Given the description of an element on the screen output the (x, y) to click on. 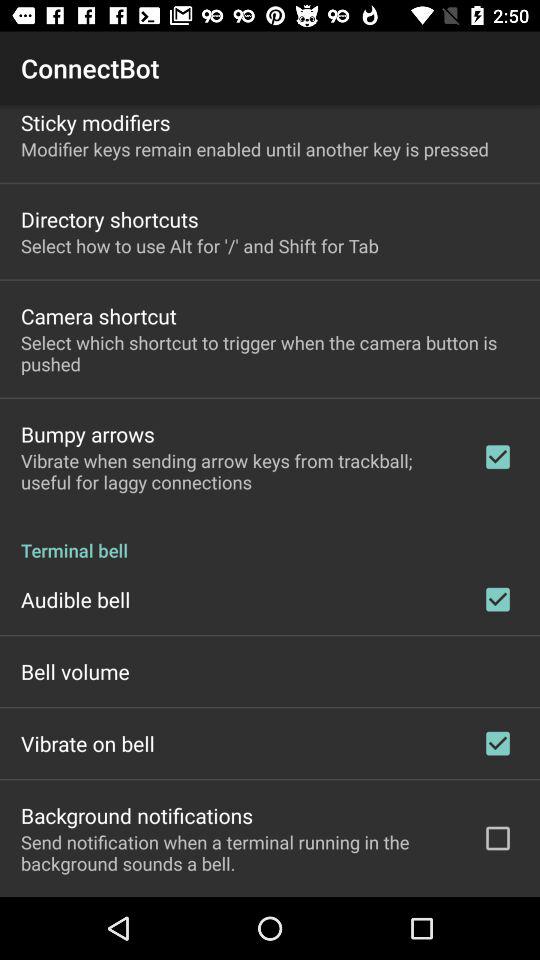
click icon above the bumpy arrows icon (270, 353)
